Given the description of an element on the screen output the (x, y) to click on. 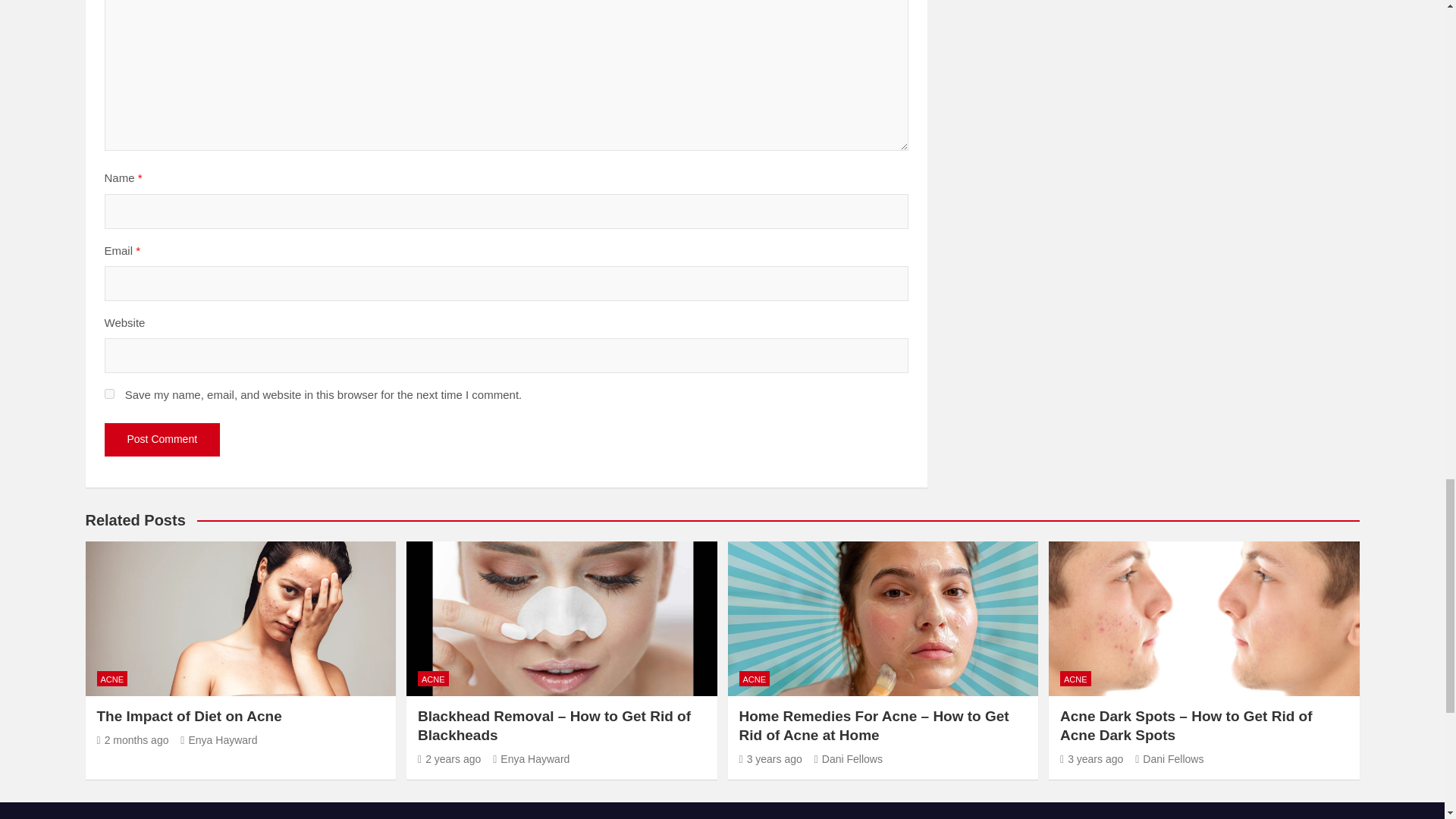
Post Comment (162, 439)
Post Comment (162, 439)
The Impact of Diet on Acne (132, 739)
yes (109, 393)
